Given the description of an element on the screen output the (x, y) to click on. 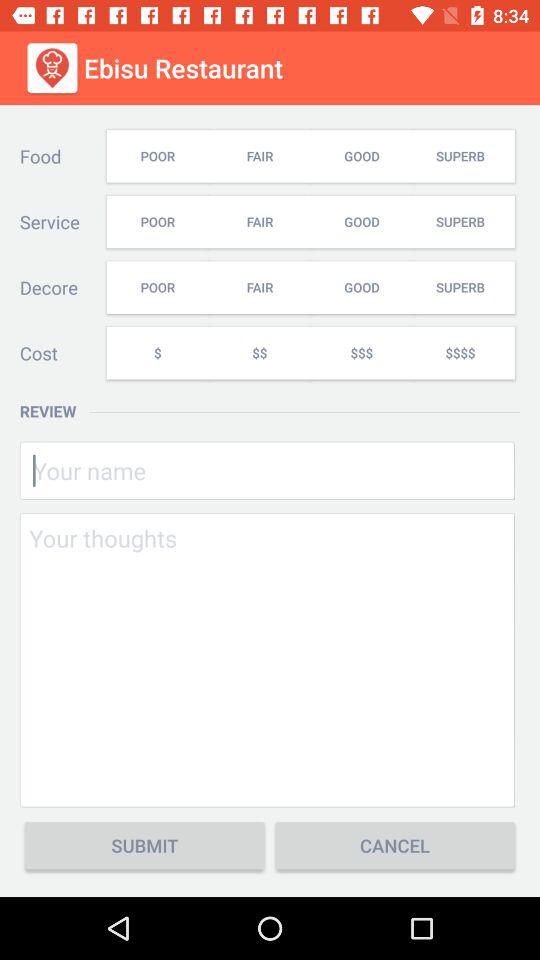
press item to the right of cost icon (157, 352)
